Given the description of an element on the screen output the (x, y) to click on. 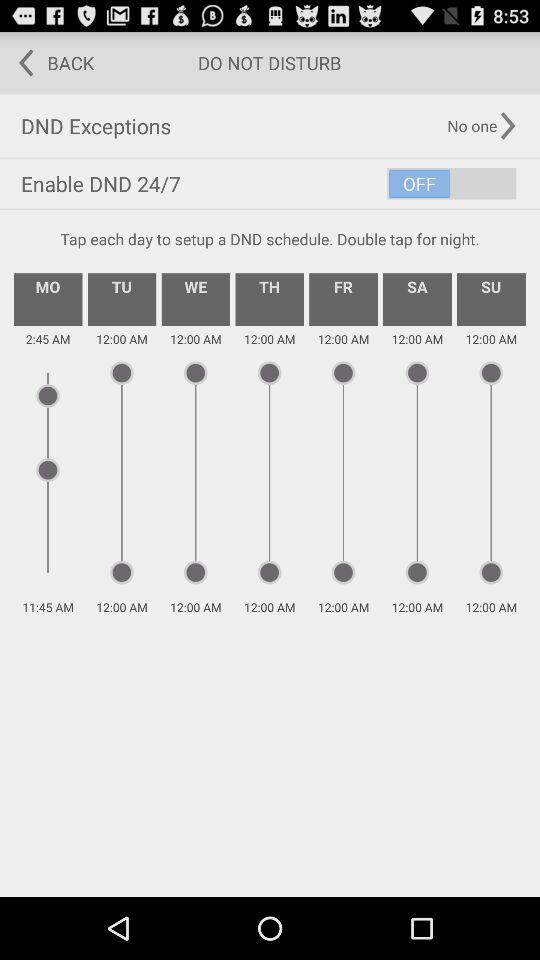
press fr icon (343, 299)
